Given the description of an element on the screen output the (x, y) to click on. 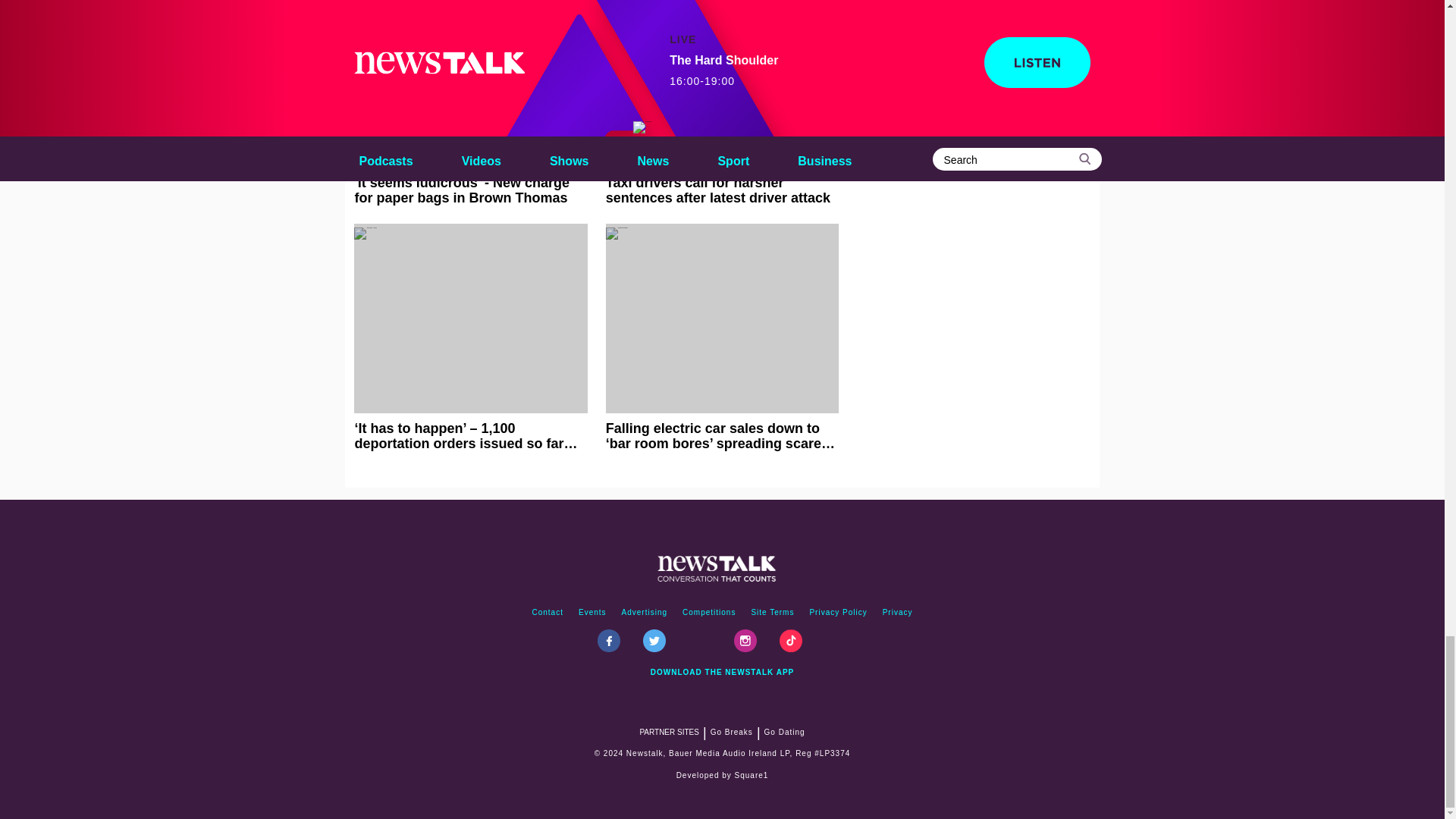
contact (547, 612)
events (592, 612)
advertising (644, 612)
Privacy (897, 612)
site terms (772, 612)
Privacy Policy (838, 612)
competitions (708, 612)
